Given the description of an element on the screen output the (x, y) to click on. 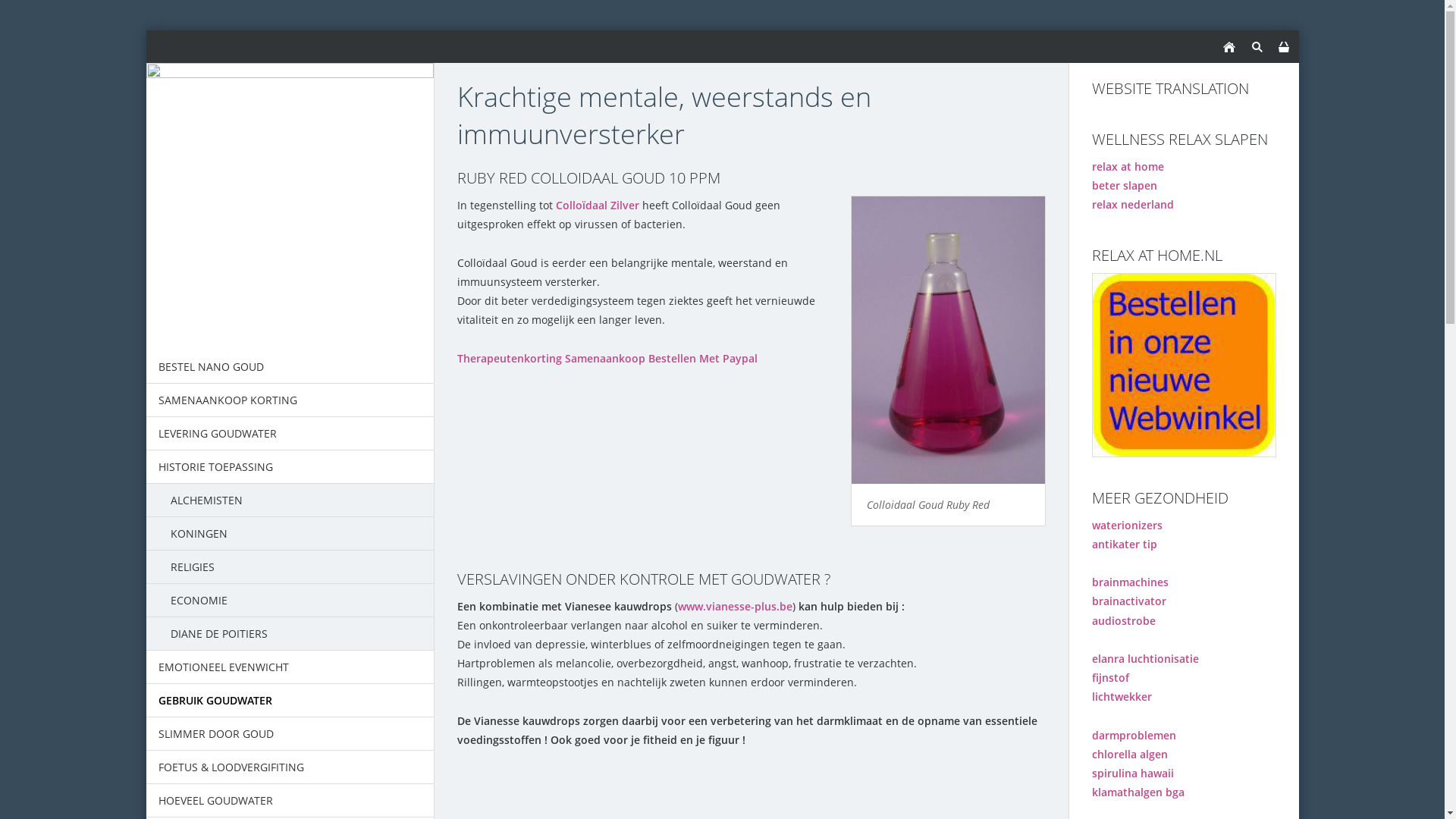
spirulina hawaii Element type: text (1132, 772)
brainactivator Element type: text (1129, 600)
HOEVEEL GOUDWATER Element type: text (289, 800)
LEVERING GOUDWATER Element type: text (289, 433)
beter slapen Element type: text (1124, 185)
www.vianesse-plus.be Element type: text (734, 606)
FOETUS & LOODVERGIFITING Element type: text (289, 767)
lichtwekker Element type: text (1121, 696)
ECONOMIE Element type: text (289, 600)
relax at home Element type: text (1128, 166)
SLIMMER DOOR GOUD Element type: text (289, 733)
waterionizers Element type: text (1127, 524)
Met Paypal Element type: text (728, 358)
klamathalgen bga Element type: text (1138, 791)
HISTORIE TOEPASSING Element type: text (289, 466)
ALCHEMISTEN Element type: text (289, 500)
SAMENAANKOOP KORTING Element type: text (289, 400)
elanra luchtionisatie Element type: text (1145, 658)
darmproblemen Element type: text (1134, 735)
KONINGEN Element type: text (289, 533)
antikater tip Element type: text (1124, 543)
Therapeutenkorting Element type: text (508, 358)
audiostrobe Element type: text (1123, 620)
DIANE DE POITIERS Element type: text (289, 633)
fijnstof Element type: text (1110, 677)
brainmachines Element type: text (1130, 581)
Samenaankoop Element type: text (604, 358)
BESTEL NANO GOUD Element type: text (289, 366)
RELIGIES Element type: text (289, 566)
EMOTIONEEL EVENWICHT Element type: text (289, 667)
relax nederland Element type: text (1132, 204)
chlorella algen Element type: text (1129, 753)
GEBRUIK GOUDWATER Element type: text (289, 700)
Bestellen Element type: text (671, 358)
